Given the description of an element on the screen output the (x, y) to click on. 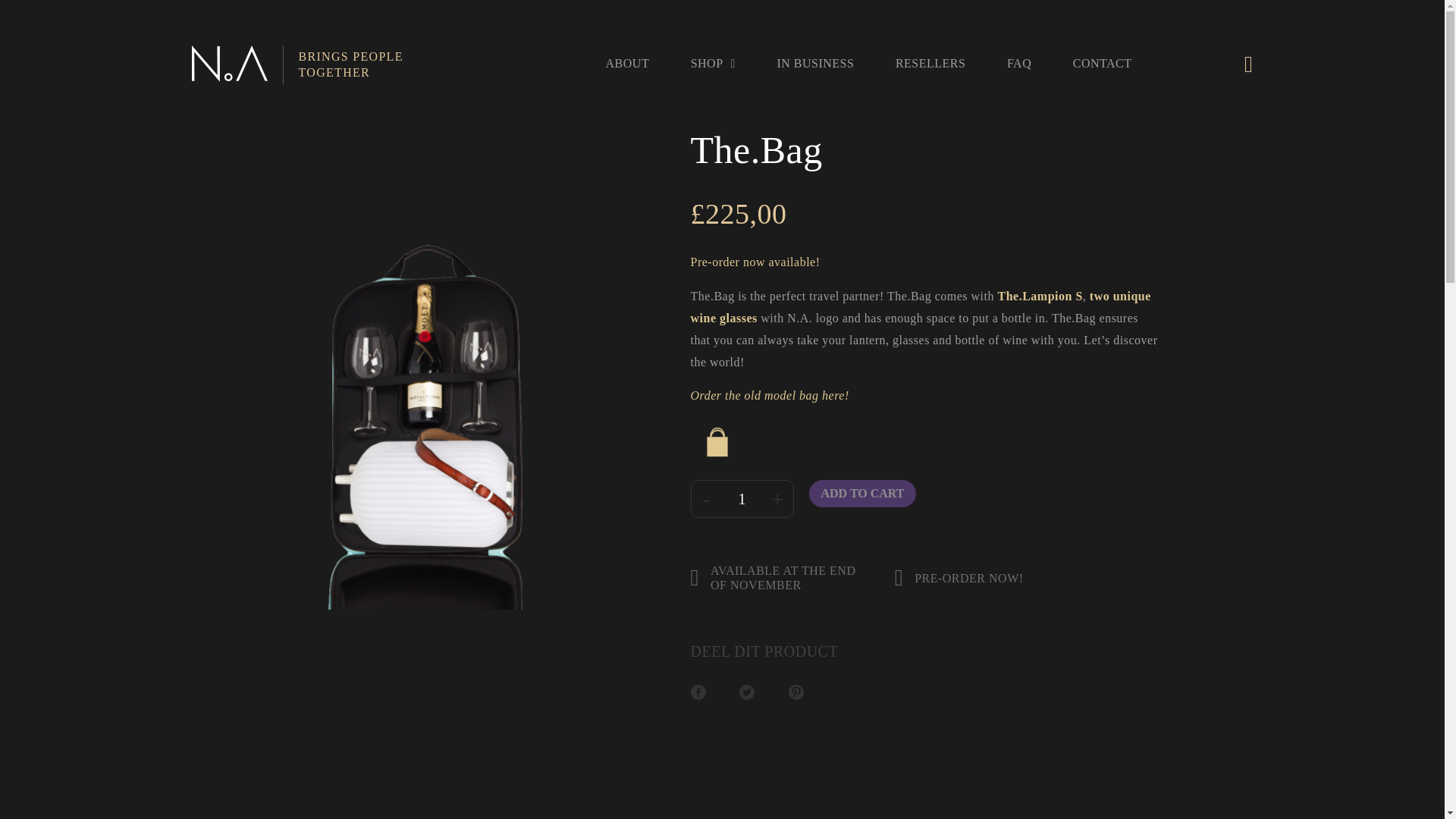
SHOP (712, 62)
RESELLERS (930, 62)
IN BUSINESS (814, 62)
1 (741, 498)
ABOUT (296, 65)
FAQ (627, 62)
CONTACT (1018, 62)
